Given the description of an element on the screen output the (x, y) to click on. 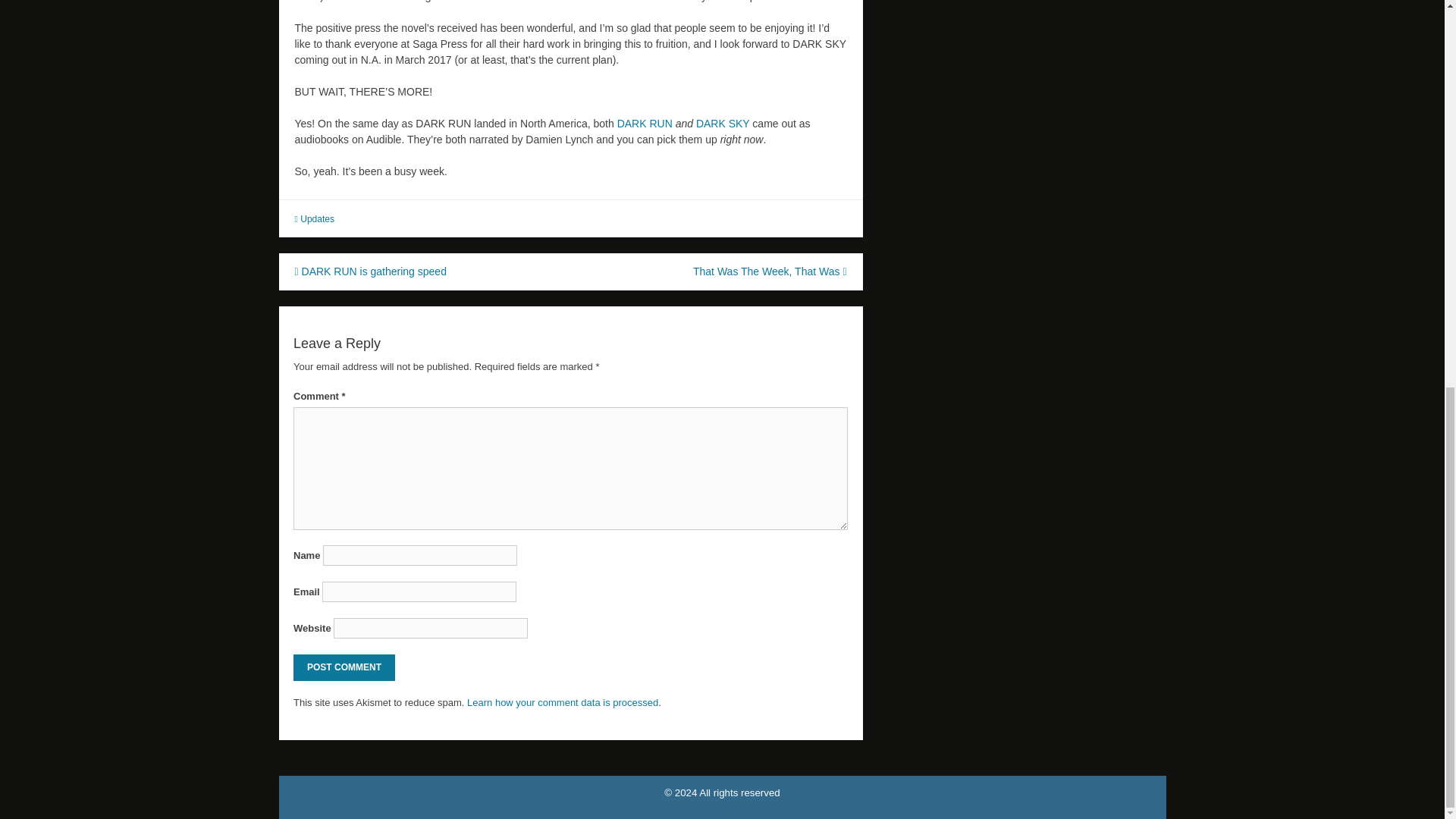
author interview (518, 1)
DARK SKY (722, 123)
That Was The Week, That Was (770, 271)
Updates (316, 218)
DARK RUN (644, 123)
Post Comment (344, 667)
Post Comment (344, 667)
DARK RUN is gathering speed (369, 271)
Learn how your comment data is processed (562, 702)
